Given the description of an element on the screen output the (x, y) to click on. 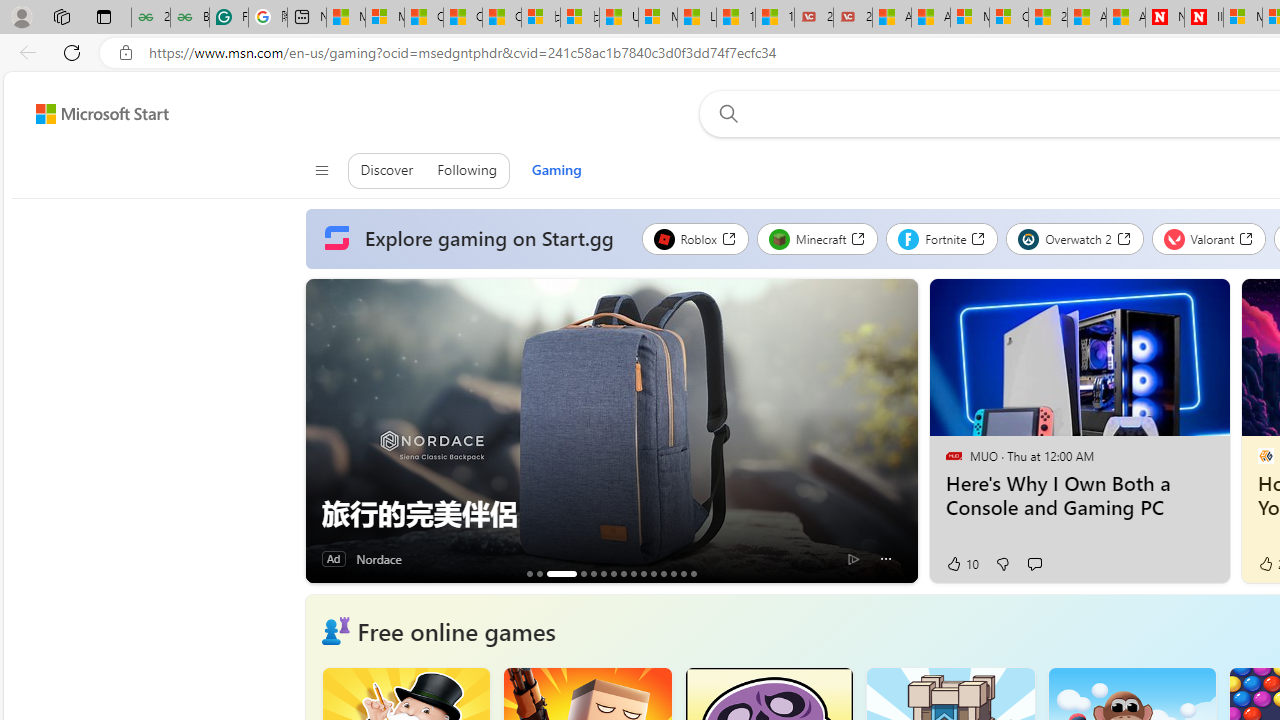
20 Ways to Boost Your Protein Intake at Every Meal (1048, 17)
Get $450 Savings on Dell G16 Gaming Laptop (693, 573)
Minecraft (817, 238)
AutomationID: tab_nativead-resinfopane-6 (603, 573)
The Rarest N64 Games (& How Much They're Worth) (673, 573)
Newsweek - News, Analysis, Politics, Business, Technology (1164, 17)
Overwatch 2 (1075, 238)
